Given the description of an element on the screen output the (x, y) to click on. 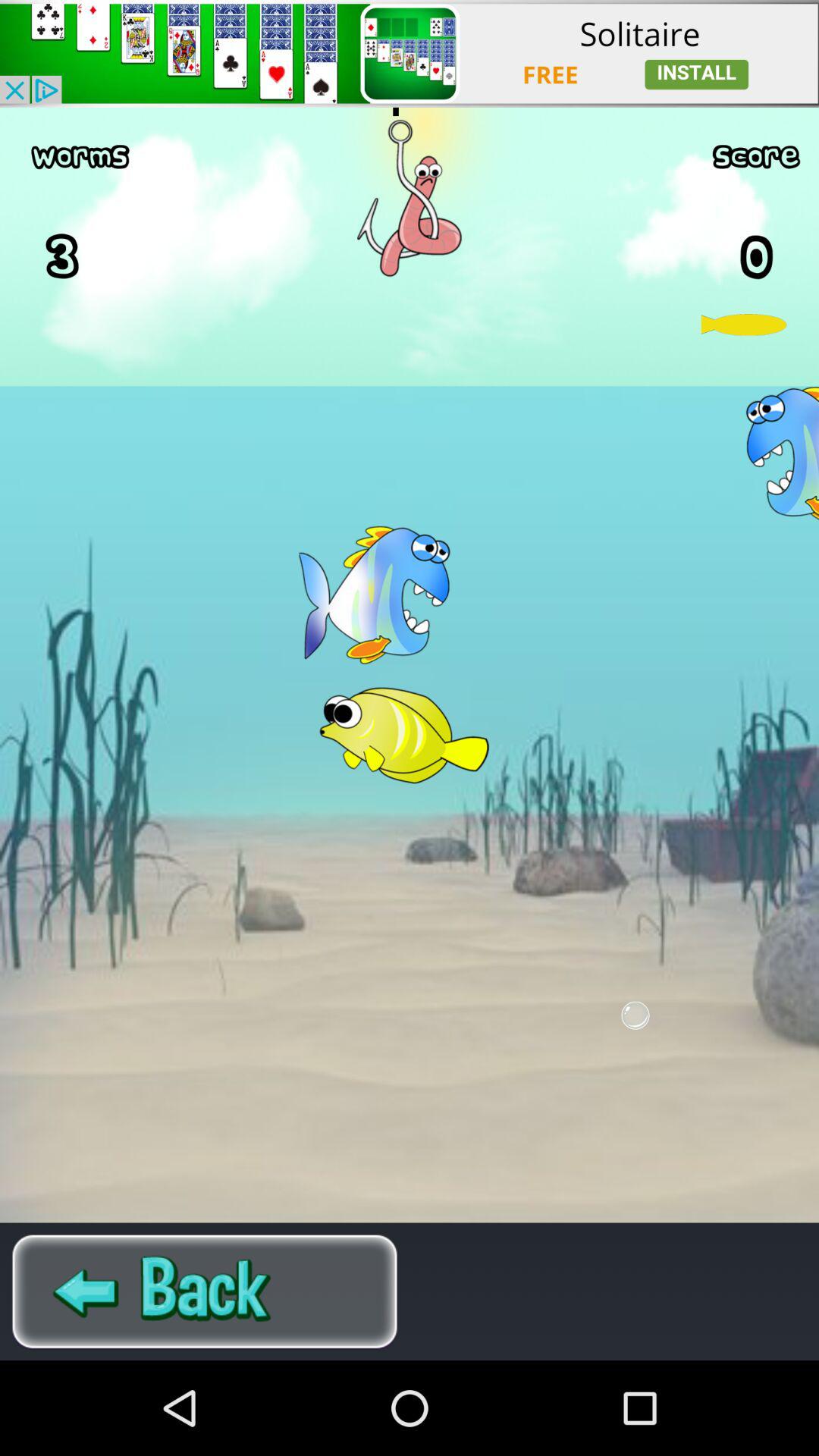
back button (204, 1291)
